Given the description of an element on the screen output the (x, y) to click on. 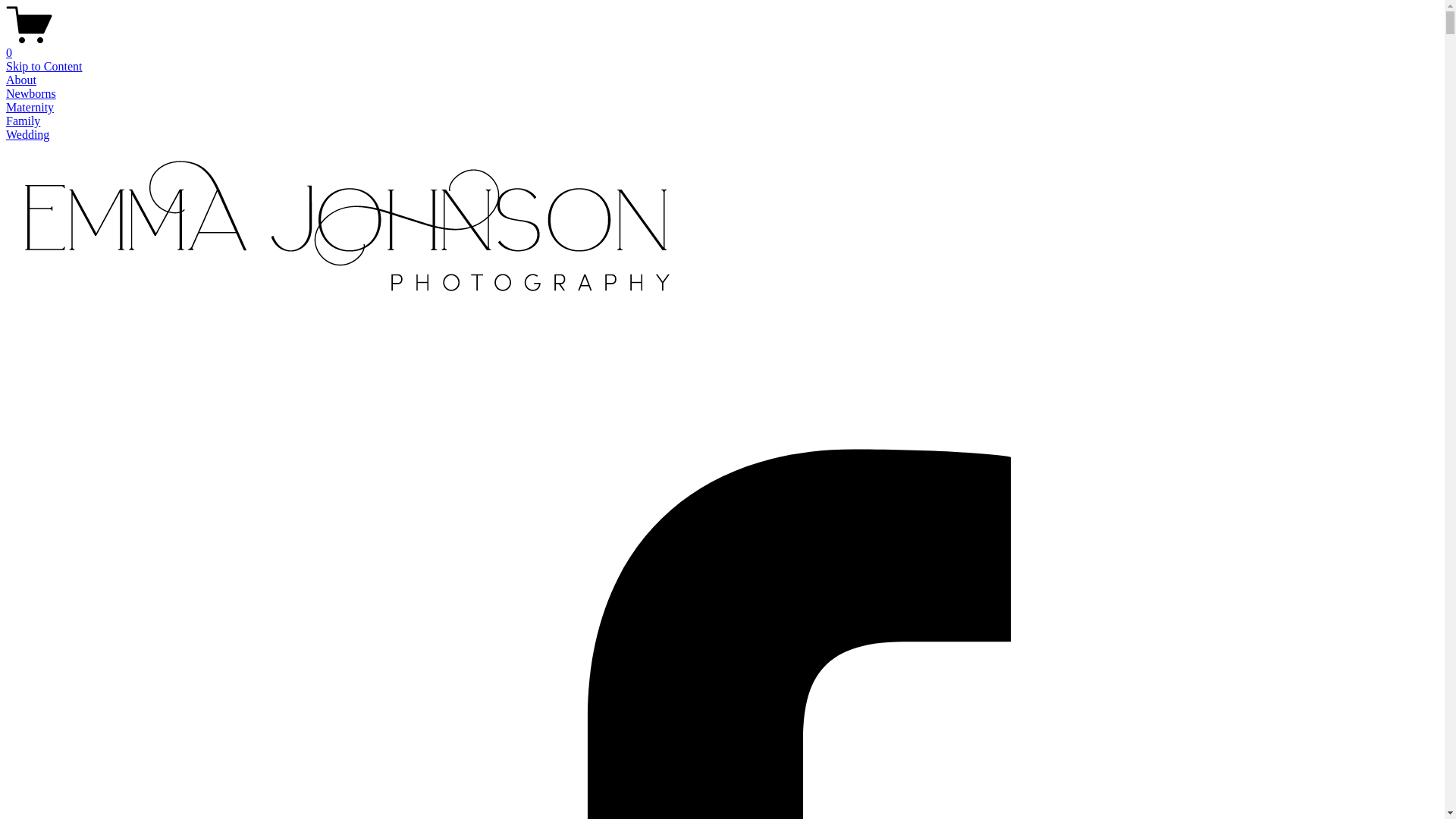
Newborns Element type: text (31, 93)
About Element type: text (21, 79)
0 Element type: text (722, 45)
Family Element type: text (23, 120)
Wedding Element type: text (27, 134)
Maternity Element type: text (29, 106)
Skip to Content Element type: text (43, 65)
